Given the description of an element on the screen output the (x, y) to click on. 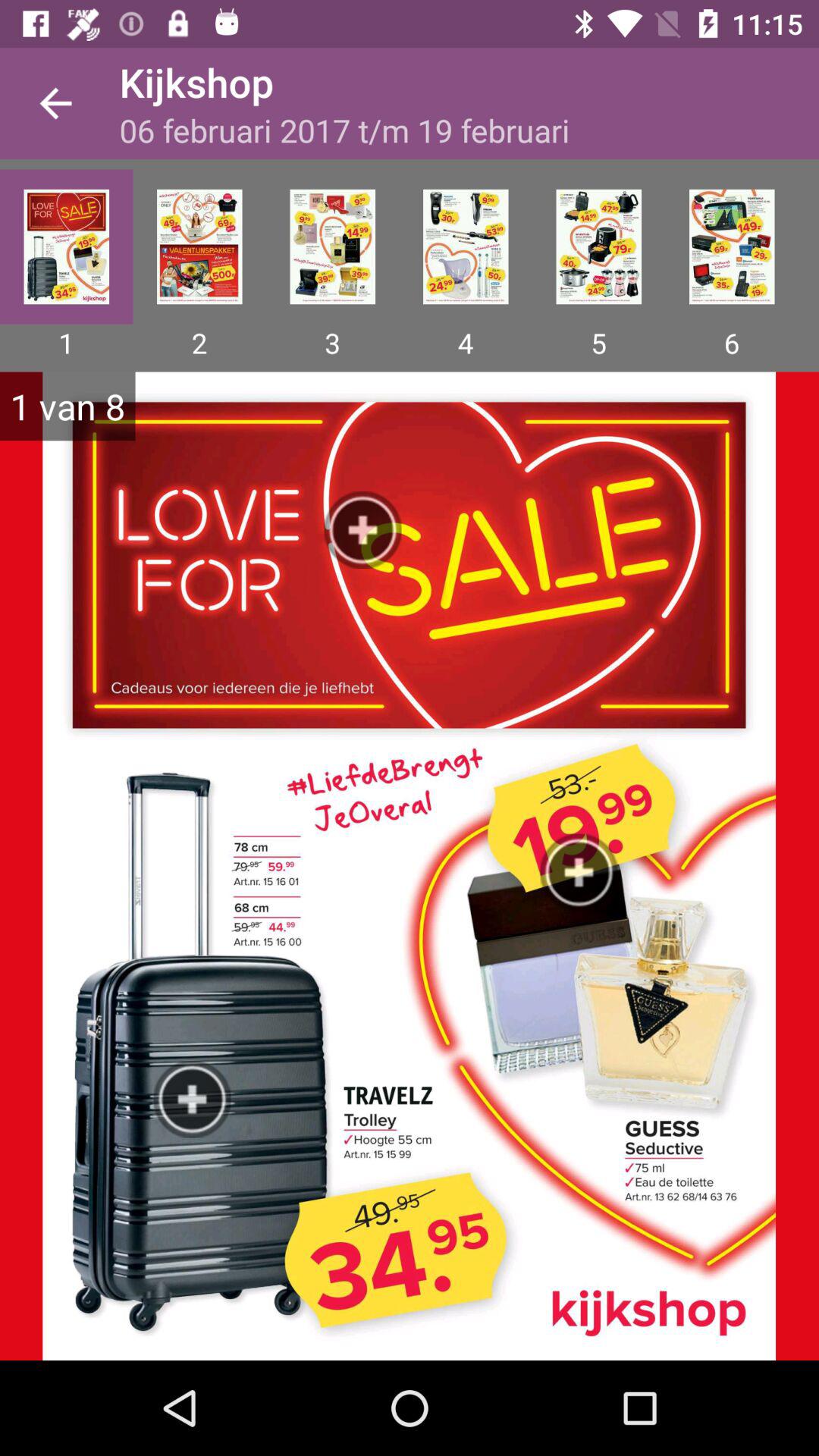
go to page one (66, 246)
